Given the description of an element on the screen output the (x, y) to click on. 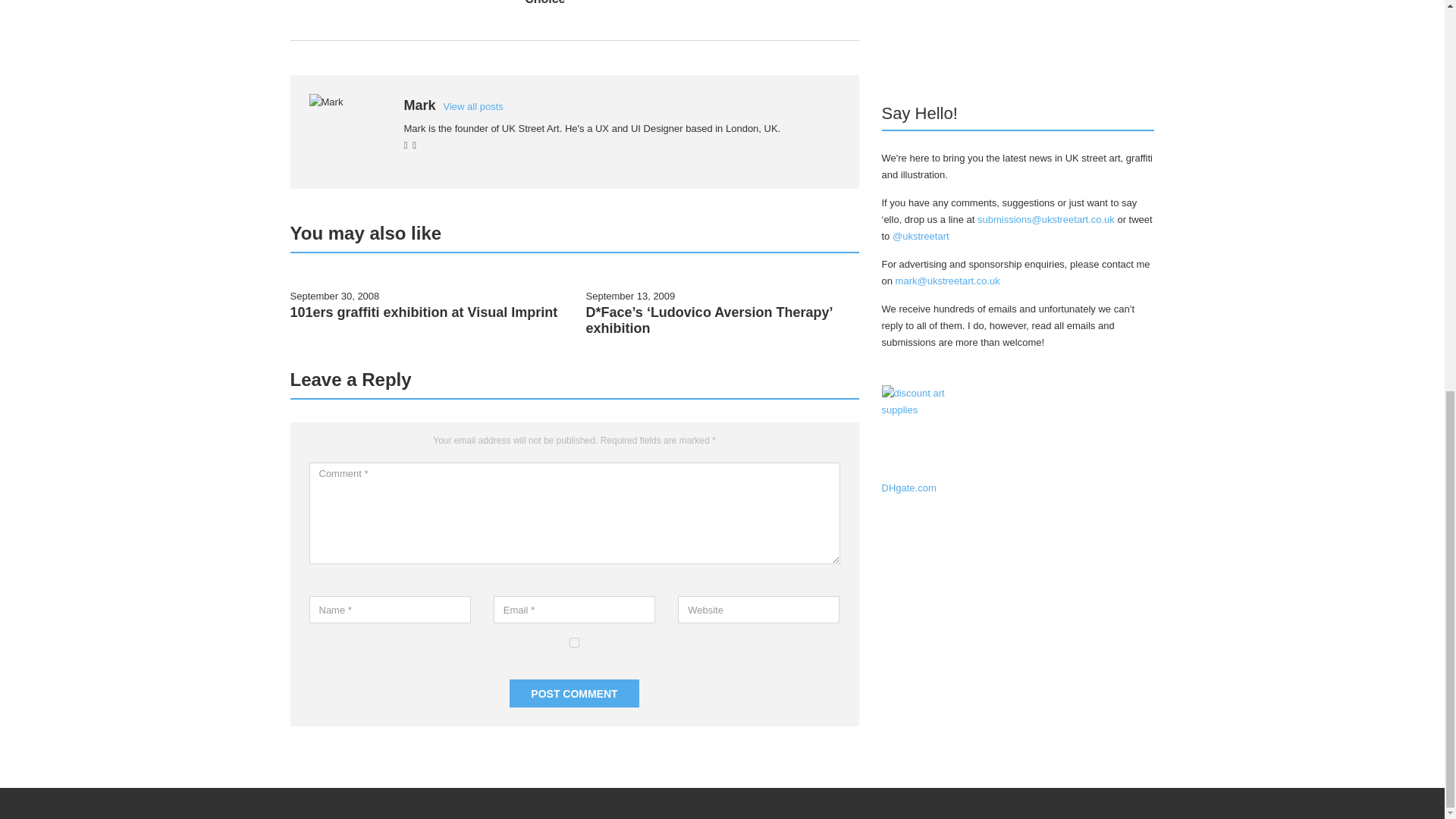
Post Comment (574, 693)
yes (574, 642)
View all posts (473, 106)
101ers graffiti exhibition at Visual Imprint (423, 312)
Post Comment (574, 693)
DHgate.com (908, 487)
Wholesale art supplies on DHgate.com (927, 431)
Wholesale art supplies on DHgate.com (927, 431)
